Given the description of an element on the screen output the (x, y) to click on. 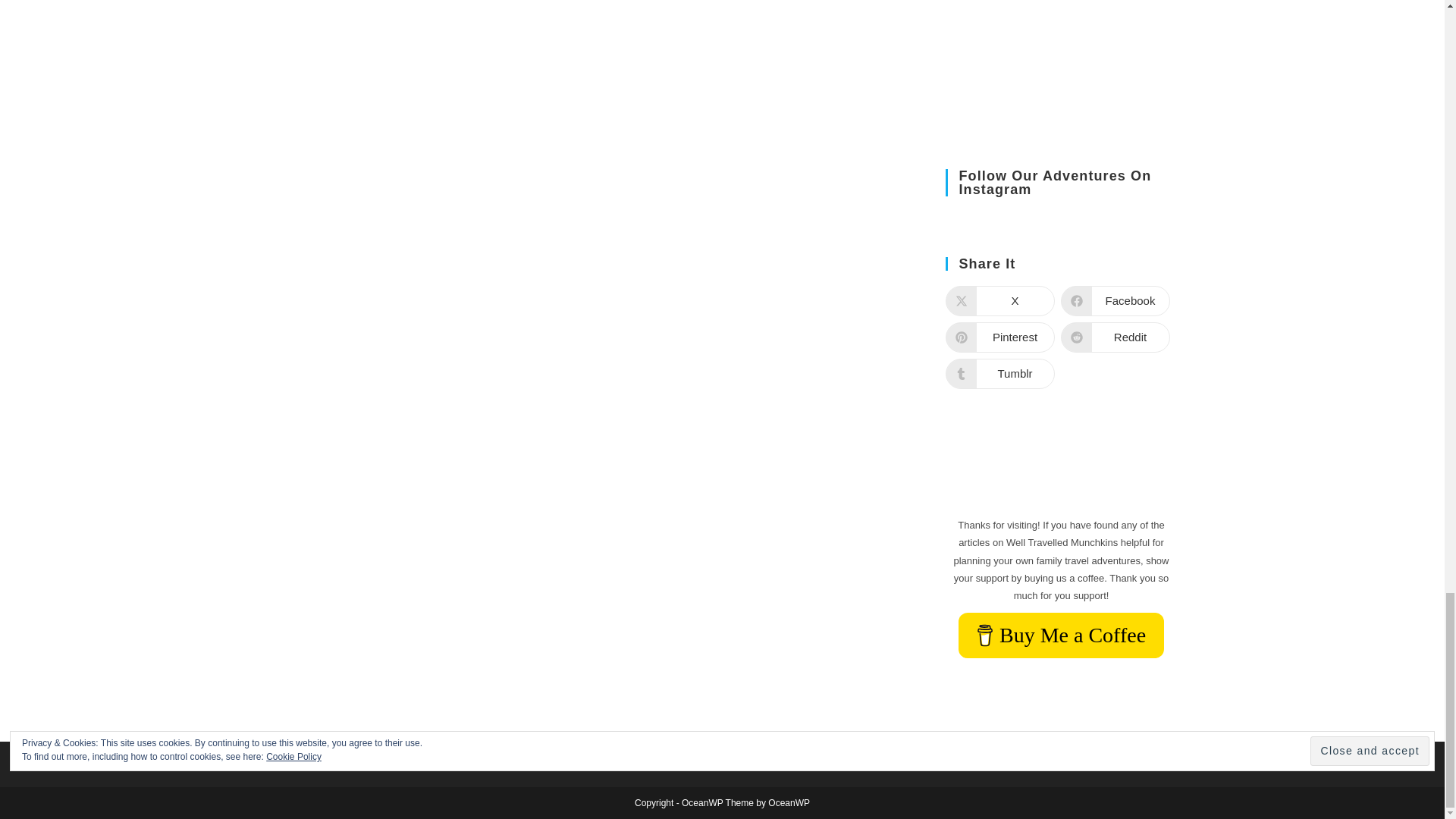
Share on Reddit (1114, 337)
Share on X (999, 300)
Share on Facebook (1114, 300)
Share on Pinterest (999, 337)
Share on Tumblr (999, 373)
